Given the description of an element on the screen output the (x, y) to click on. 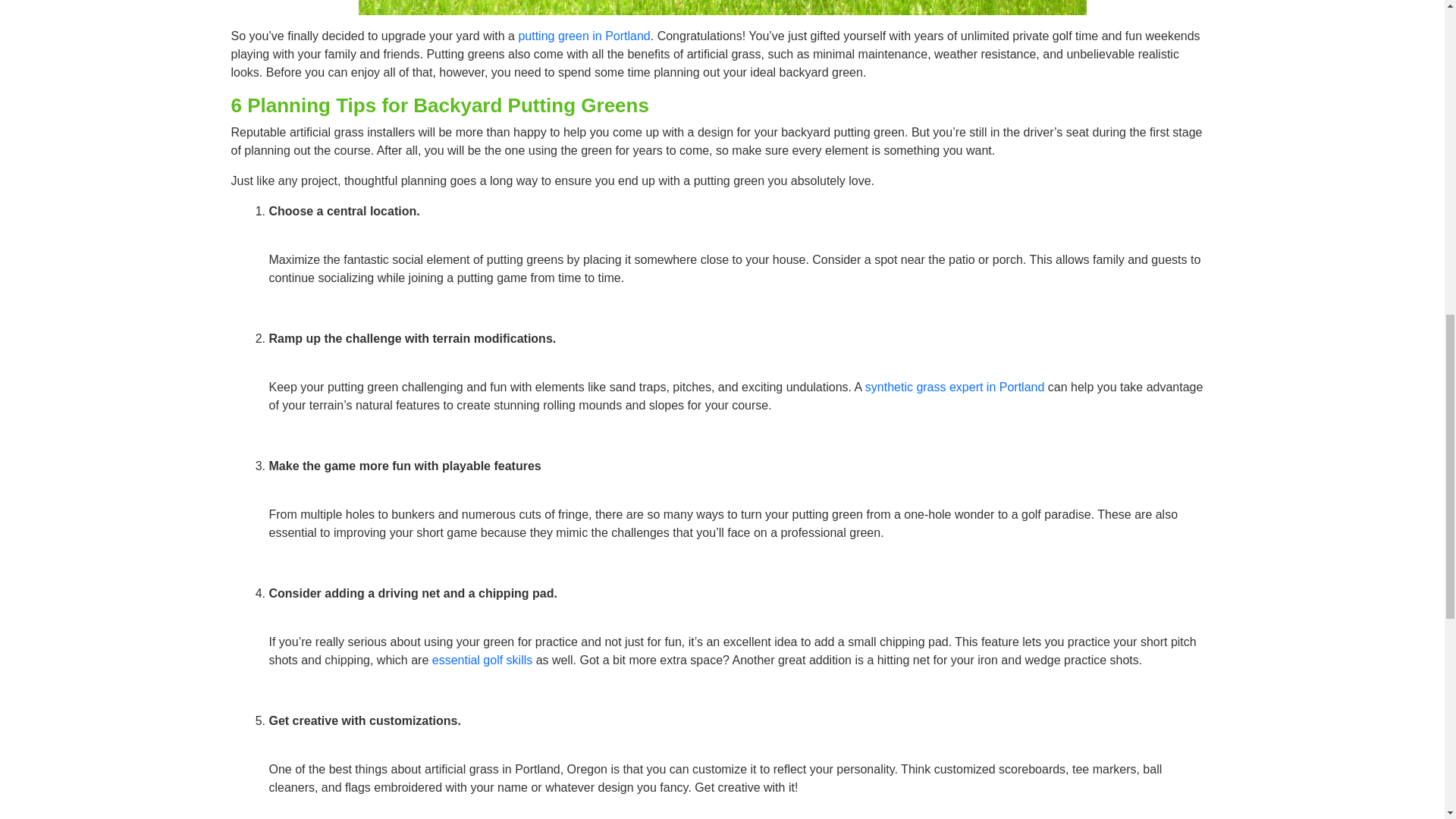
synthetic grass expert in Portland (954, 386)
essential golf skills (482, 659)
putting green in Portland (583, 35)
